Given the description of an element on the screen output the (x, y) to click on. 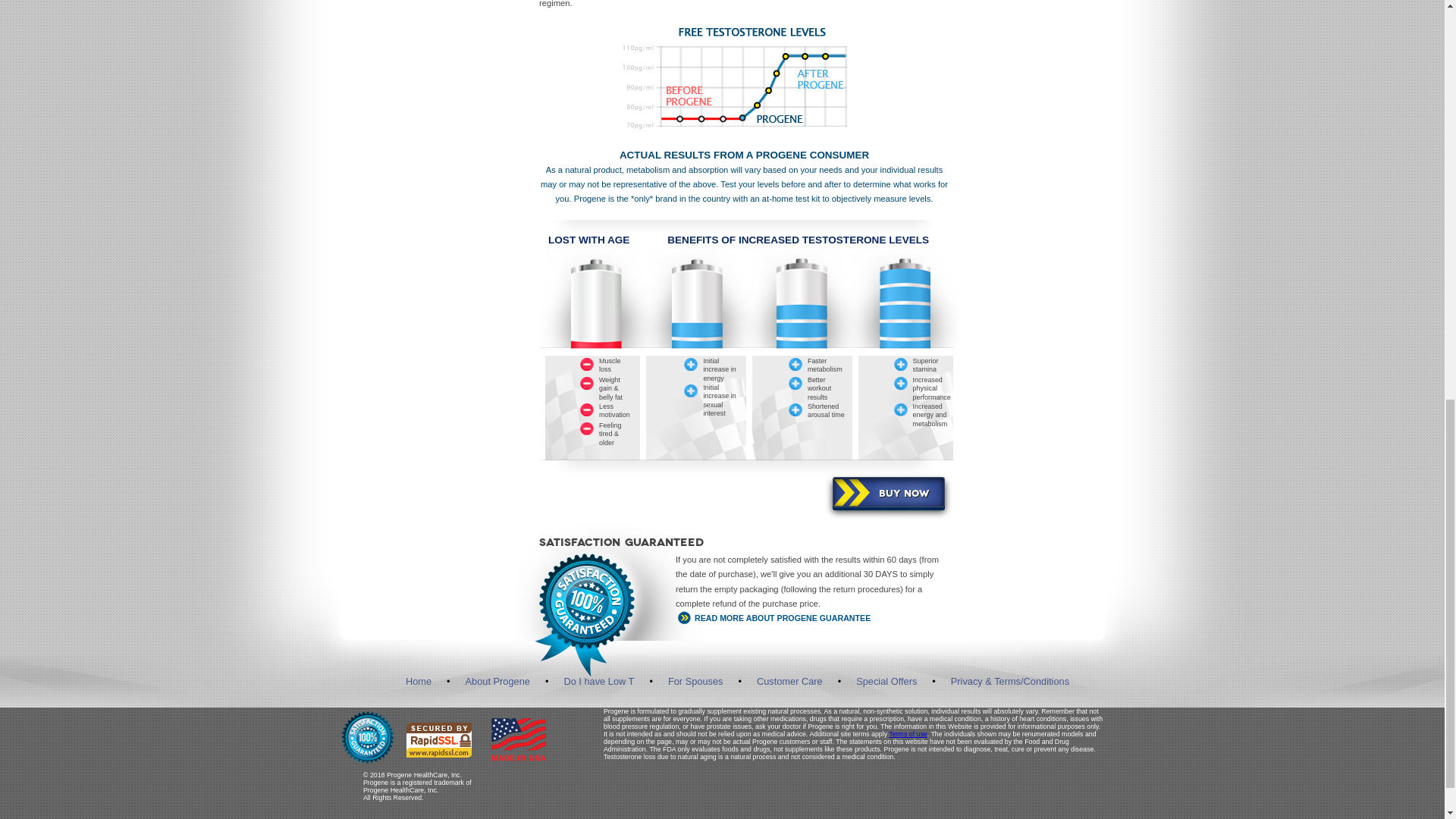
About Progene (497, 681)
Customer Care (789, 681)
Special Offers (886, 681)
BUY NOW (888, 491)
For Spouses (695, 681)
Terms of use (907, 733)
Do I have Low T (598, 681)
READ MORE ABOUT PROGENE GUARANTEE (812, 618)
Home (418, 681)
